Given the description of an element on the screen output the (x, y) to click on. 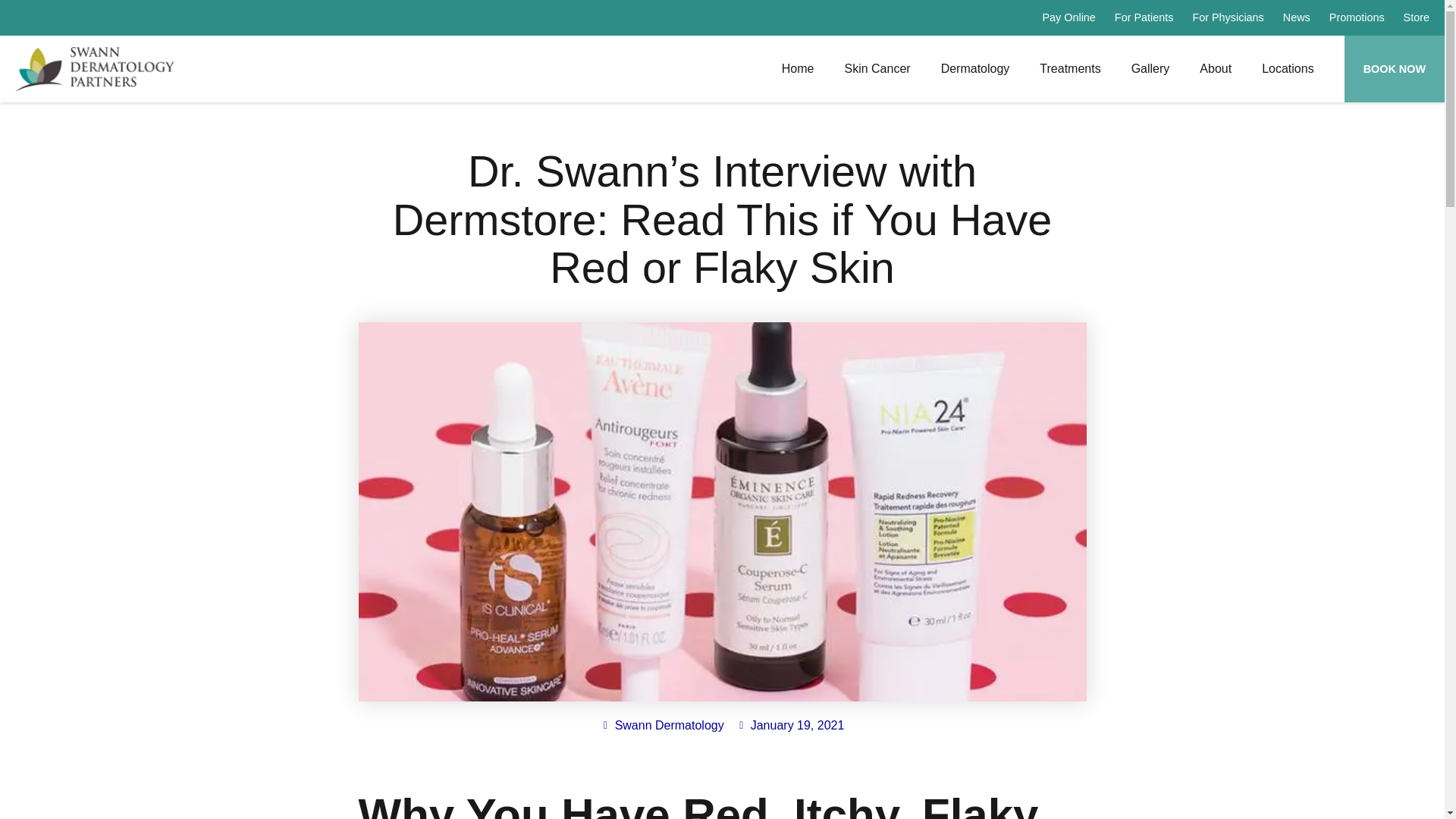
Store (1416, 17)
For Patients (1144, 17)
News (1296, 17)
Promotions (1356, 17)
For Physicians (1227, 17)
Pay Online (1068, 17)
